Given the description of an element on the screen output the (x, y) to click on. 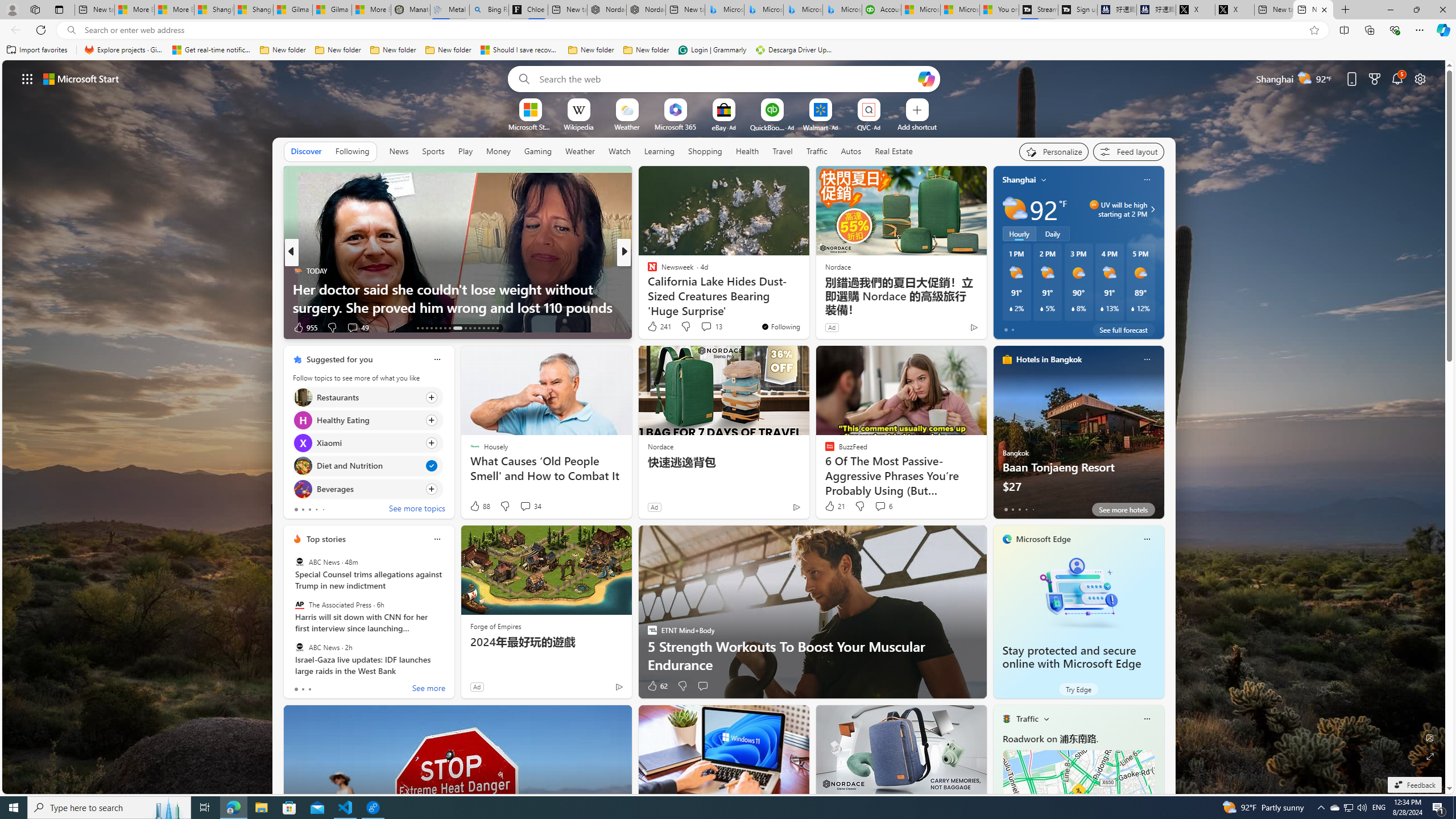
View comments 5 Comment (698, 327)
My location (1043, 179)
View comments 13 Comment (710, 326)
Login | Grammarly (712, 49)
View comments 5 Comment (702, 327)
AutomationID: tab-14 (422, 328)
New folder (646, 49)
AutomationID: tab-28 (492, 328)
241 Like (658, 326)
Click to unfollow topic Diet and Nutrition (367, 465)
